Given the description of an element on the screen output the (x, y) to click on. 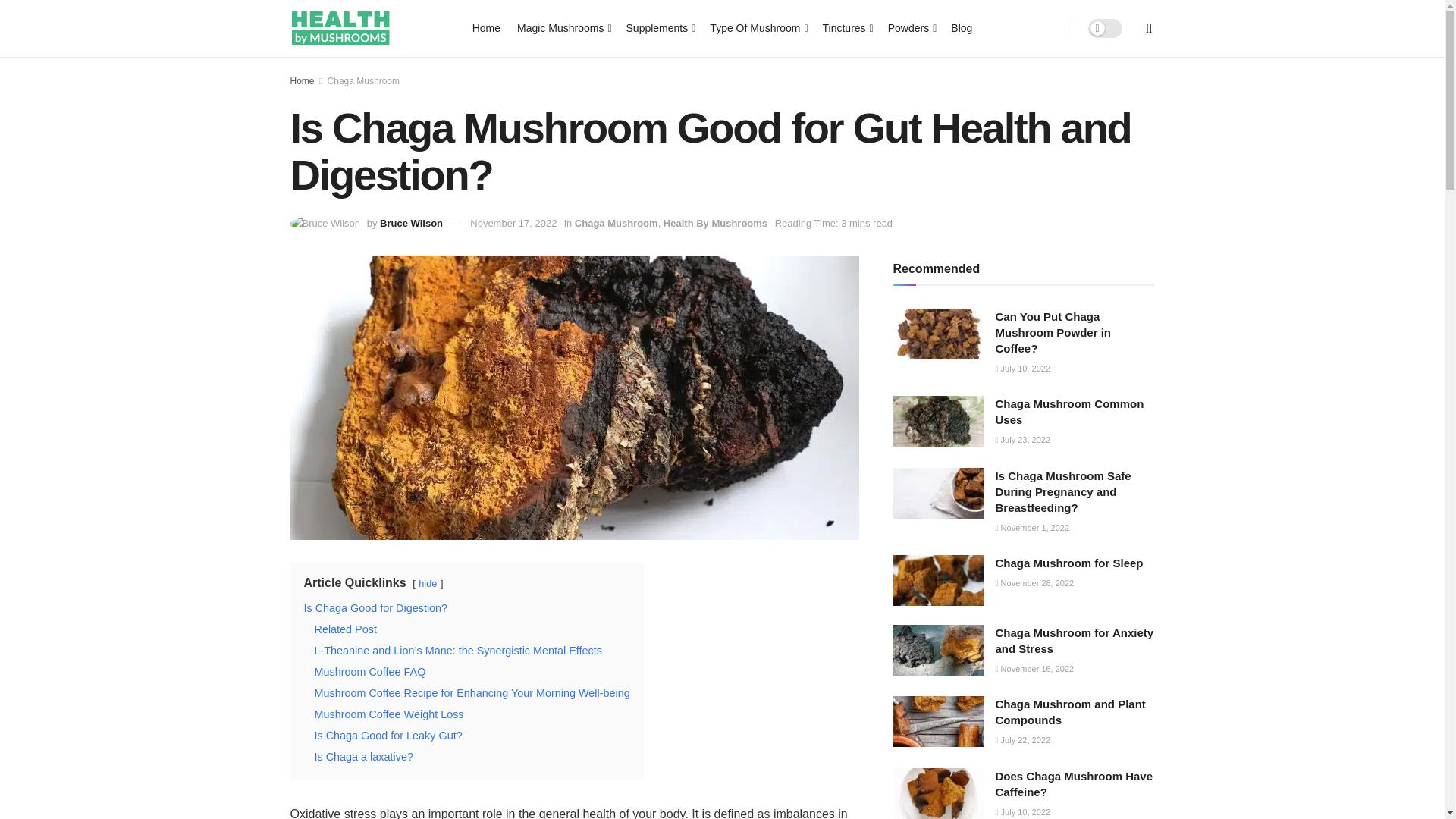
Supplements (660, 27)
Magic Mushrooms (563, 27)
Home (485, 27)
Type Of Mushroom (757, 27)
